Given the description of an element on the screen output the (x, y) to click on. 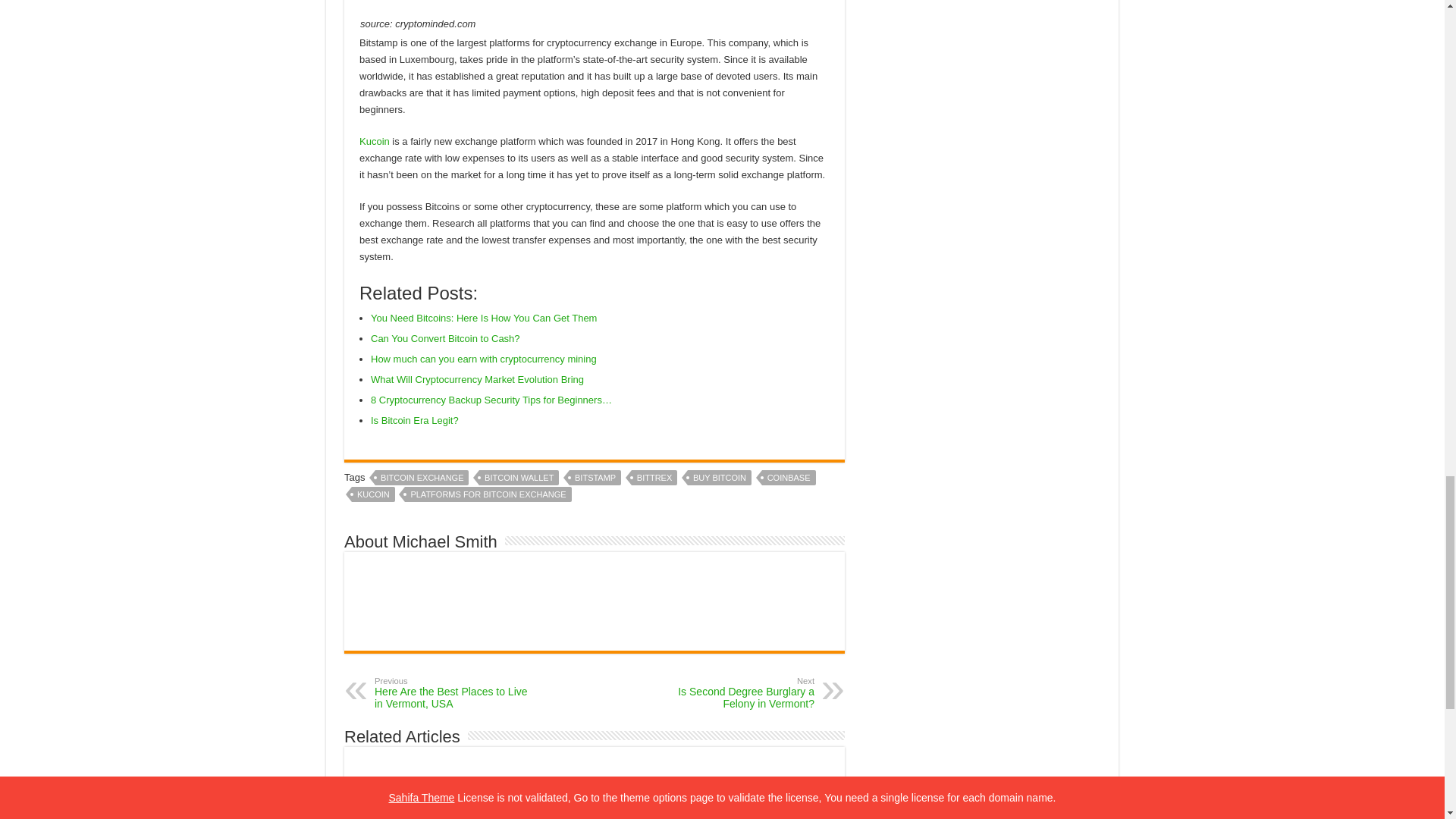
Is Bitcoin Era Legit?  (416, 419)
How much can you earn with cryptocurrency mining (483, 358)
You Need Bitcoins: Here Is How You Can Get Them (483, 317)
BITTREX (654, 477)
BITCOIN WALLET (519, 477)
Kucoin (374, 141)
What Will Cryptocurrency Market Evolution Bring (477, 378)
COINBASE (788, 477)
BITCOIN EXCHANGE (421, 477)
Can You Convert Bitcoin to Cash? (445, 337)
